Given the description of an element on the screen output the (x, y) to click on. 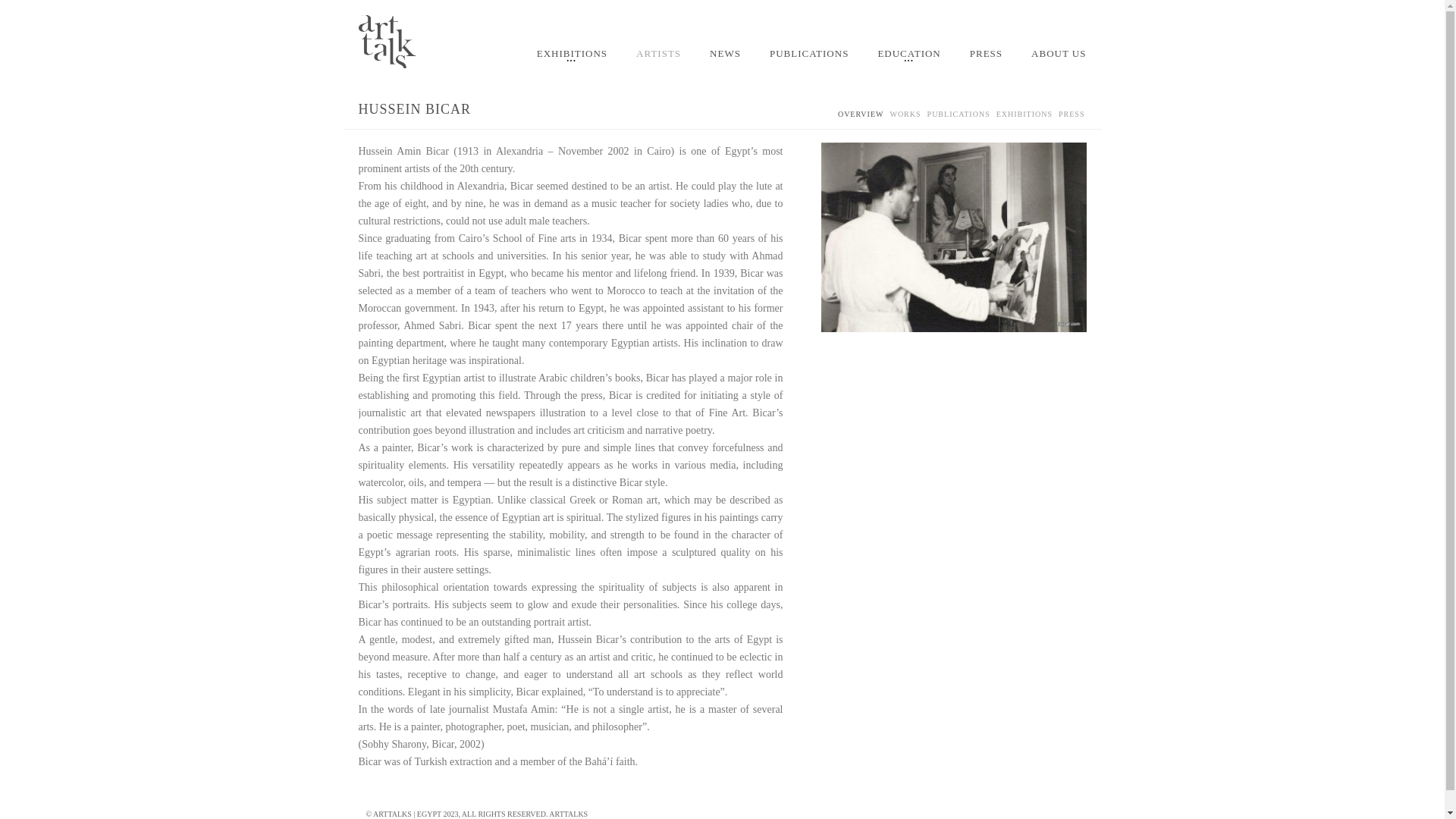
EXHIBITIONS (571, 57)
ABOUT US (1056, 57)
EDUCATION (908, 57)
PRESS (1071, 117)
PUBLICATIONS (808, 57)
NEWS (725, 57)
EXHIBITIONS (1023, 117)
ARTISTS (657, 57)
PUBLICATIONS (958, 117)
OVERVIEW (860, 117)
ARTTALKS (568, 814)
PRESS (986, 57)
WORKS (904, 117)
